Given the description of an element on the screen output the (x, y) to click on. 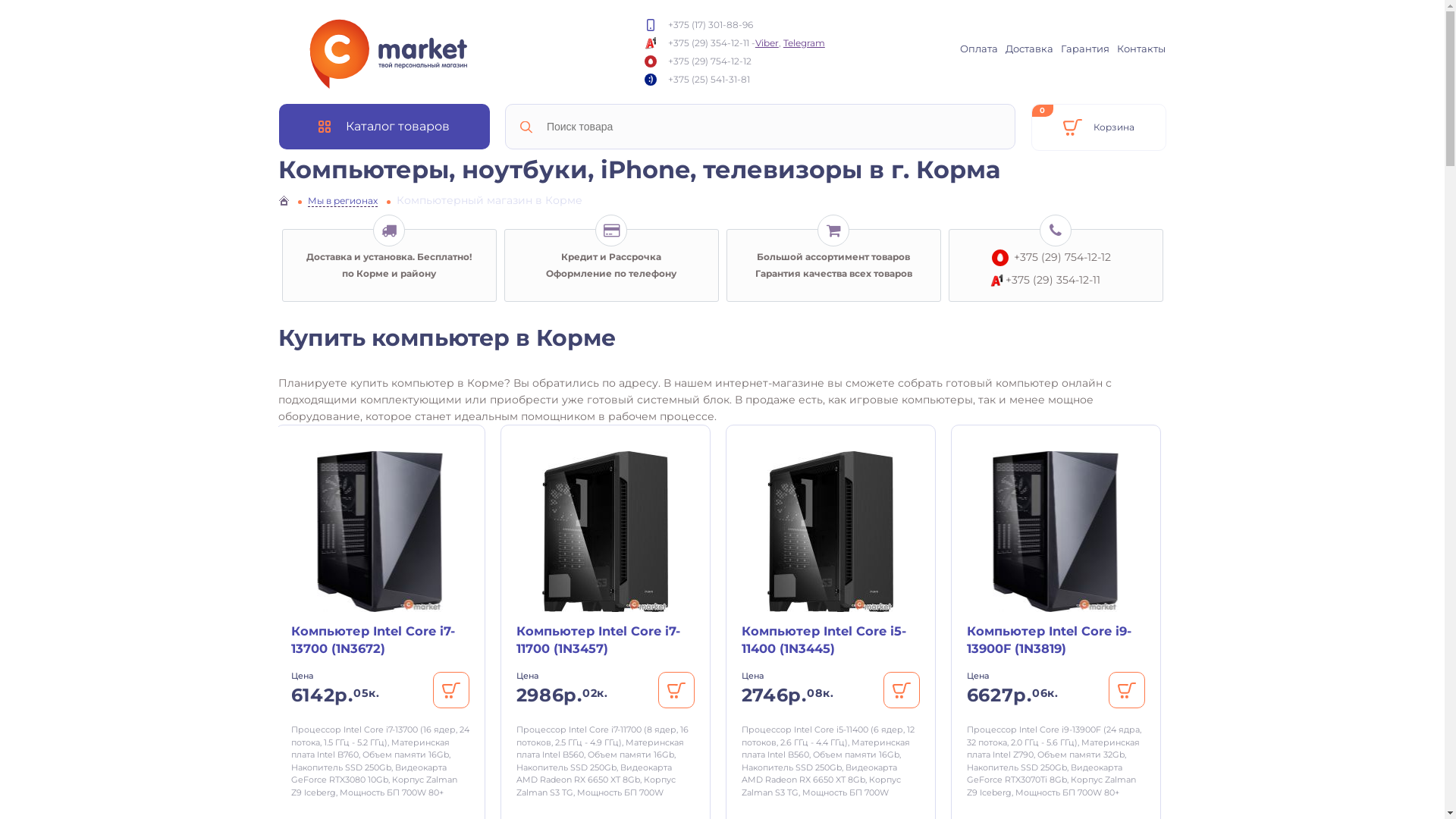
Viber Element type: text (766, 41)
Telegram Element type: text (804, 41)
